Given the description of an element on the screen output the (x, y) to click on. 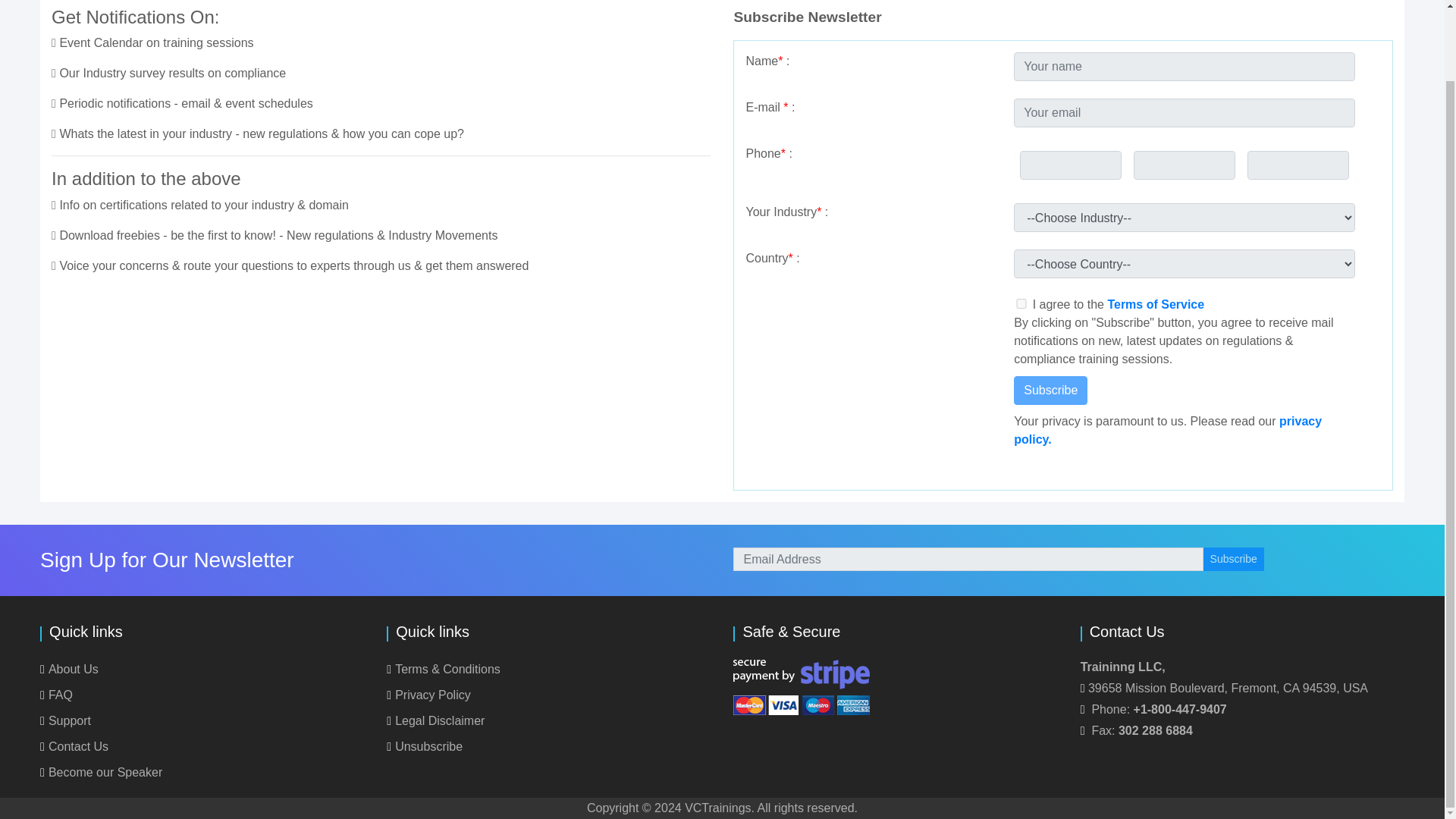
Unsubscribe (425, 746)
agree (1021, 303)
Subscribe (1050, 389)
Legal Disclaimer (435, 720)
FAQ (56, 694)
Privacy Policy (428, 694)
privacy policy. (1167, 429)
Terms of Service (1155, 304)
Contact Us (73, 746)
Become our Speaker (100, 771)
